Given the description of an element on the screen output the (x, y) to click on. 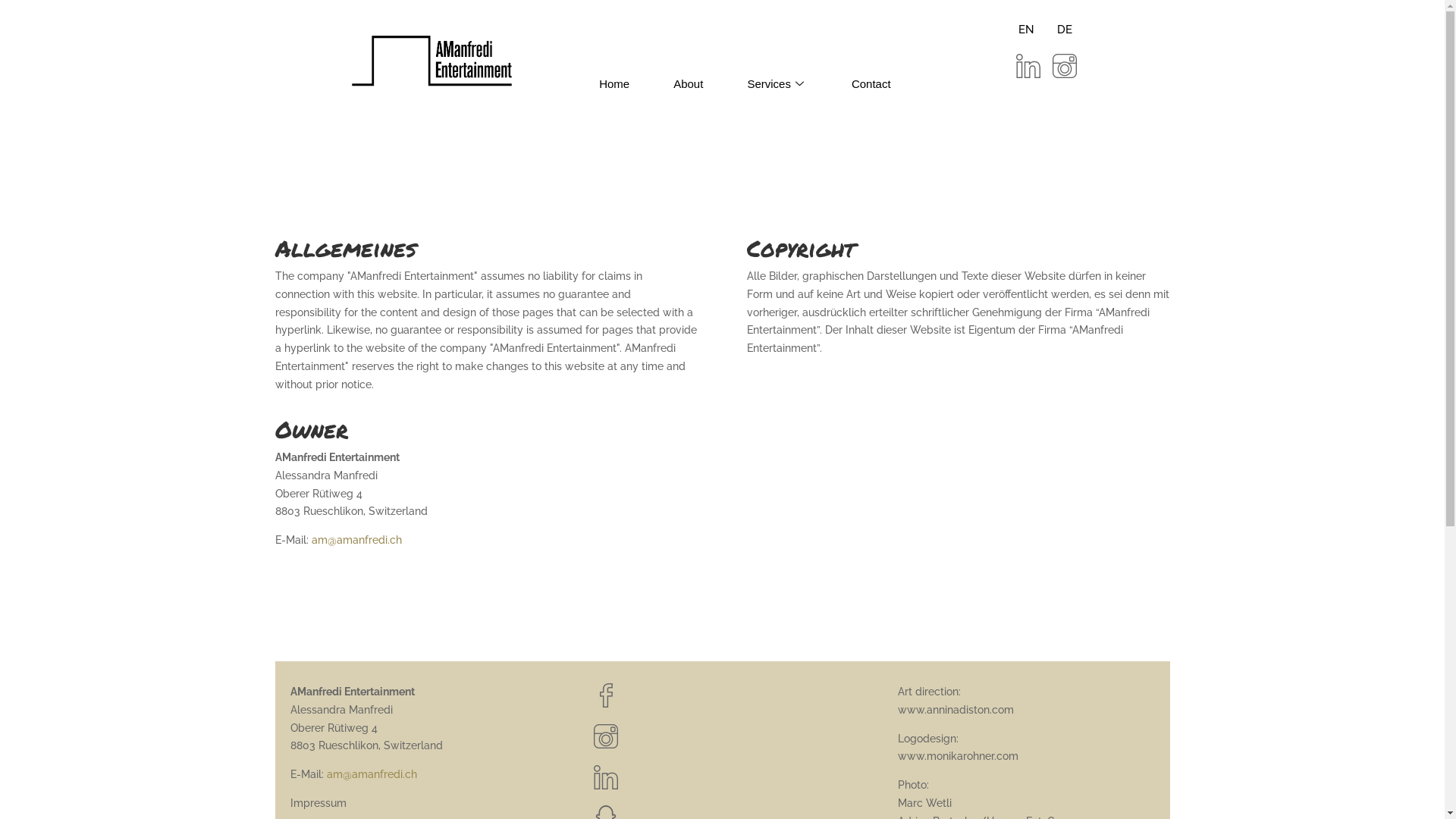
Home Element type: text (614, 71)
Services Element type: text (776, 71)
Impressum Element type: text (317, 803)
am@amanfredi.ch Element type: text (371, 774)
EN Element type: text (1026, 30)
am@amanfredi.ch Element type: text (355, 539)
Contact Element type: text (871, 71)
DE Element type: text (1064, 30)
About Element type: text (687, 71)
